Given the description of an element on the screen output the (x, y) to click on. 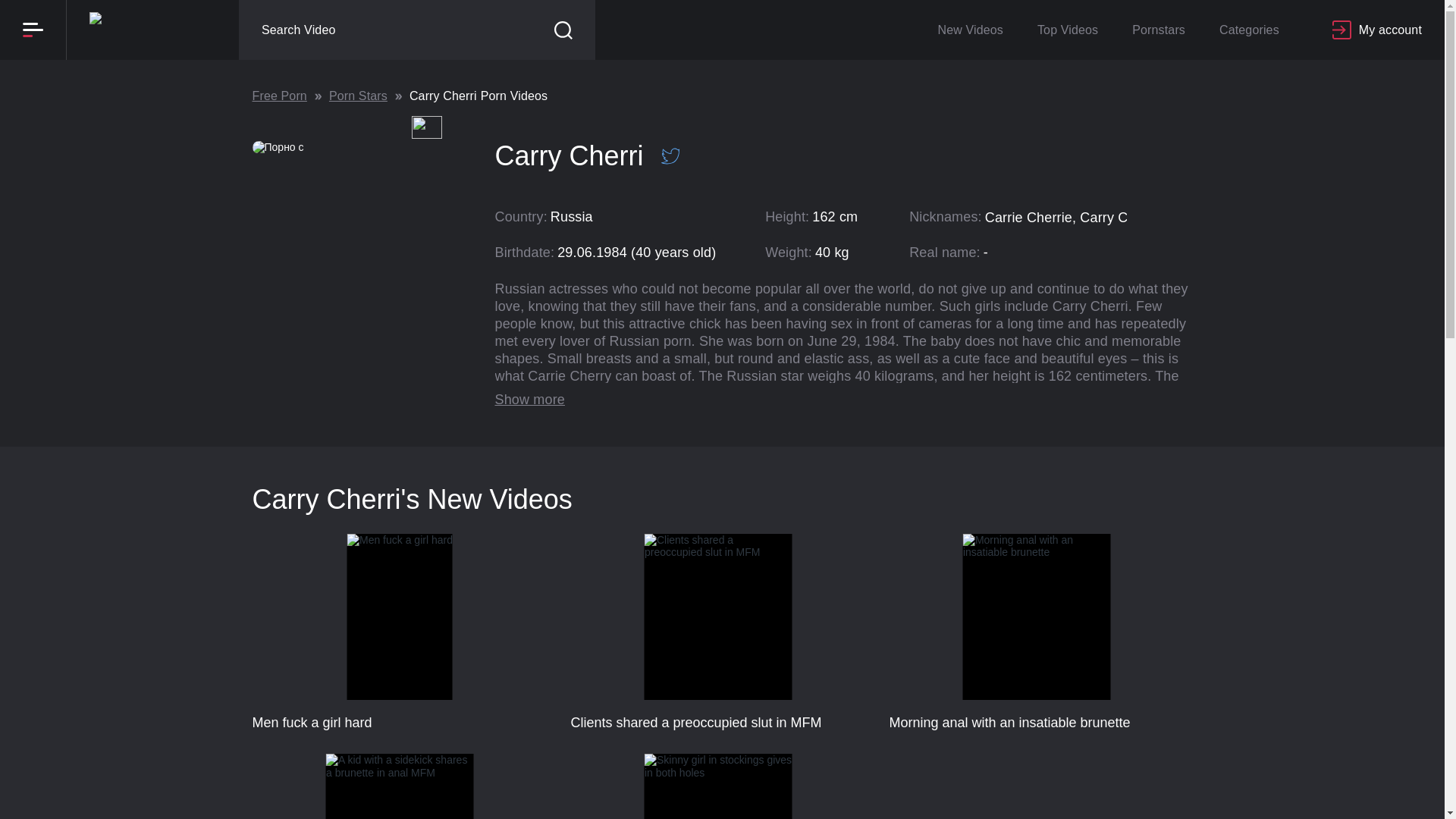
Pornstars (1157, 29)
New Videos (969, 29)
Top Videos (1067, 29)
Skinny girl in stockings gives in both holes (721, 114)
Men fuck a girl hard (718, 786)
My account (399, 632)
Men fuck a girl hard (1377, 29)
Clients shared a preoccupied slut in MFM (399, 632)
Categories (718, 632)
Clients shared a preoccupied slut in MFM (1249, 29)
A kid with a sidekick shares a brunette in anal MFM (718, 632)
A kid with a sidekick shares a brunette in anal MFM (399, 786)
Morning anal with an insatiable brunette (399, 786)
Morning anal with an insatiable brunette (1036, 632)
